Given the description of an element on the screen output the (x, y) to click on. 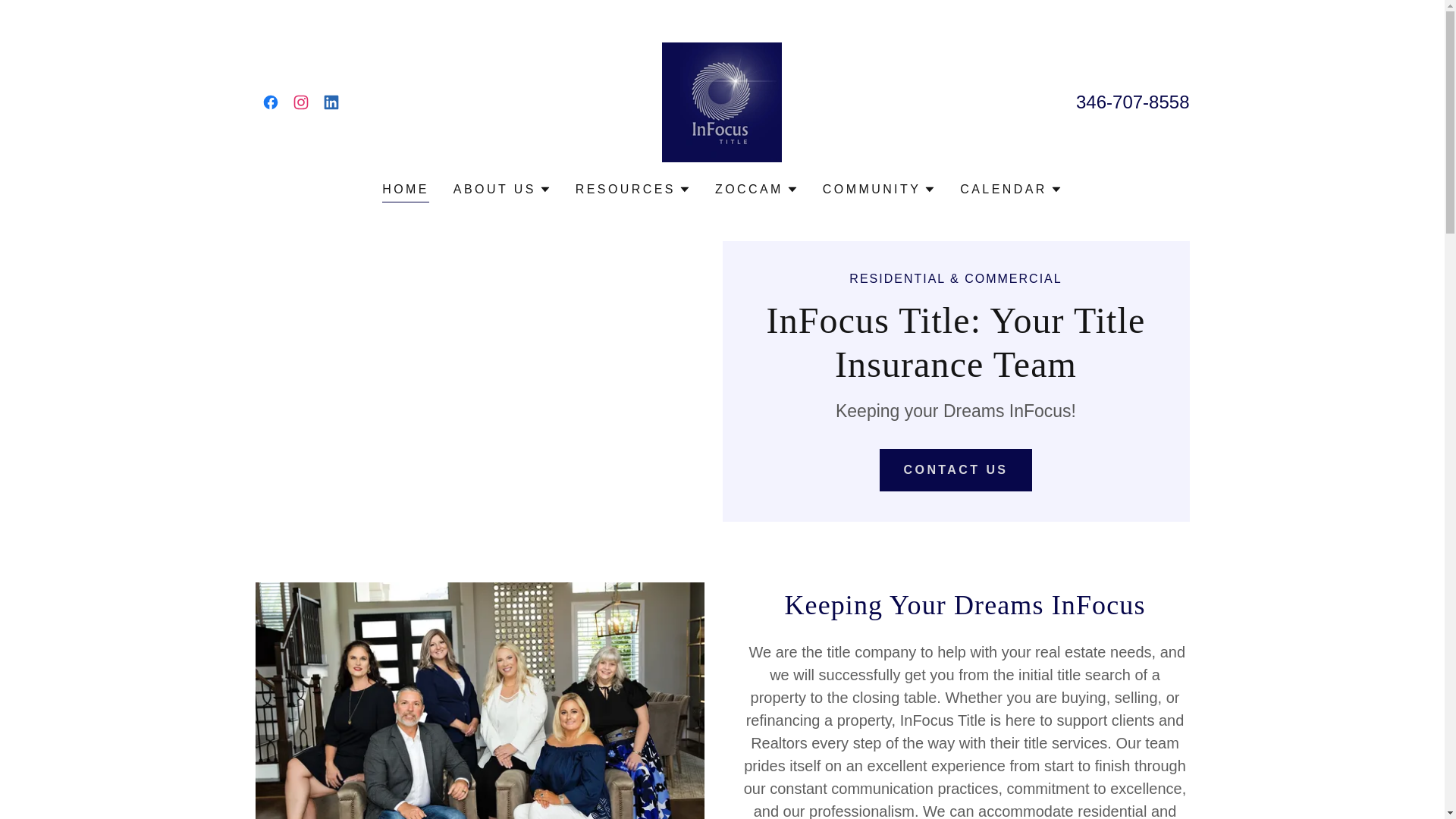
COMMUNITY (879, 189)
RESOURCES (632, 189)
CALENDAR (1010, 189)
HOME (405, 191)
ZOCCAM (755, 189)
346-707-8558 (1132, 101)
ABOUT US (501, 189)
